Given the description of an element on the screen output the (x, y) to click on. 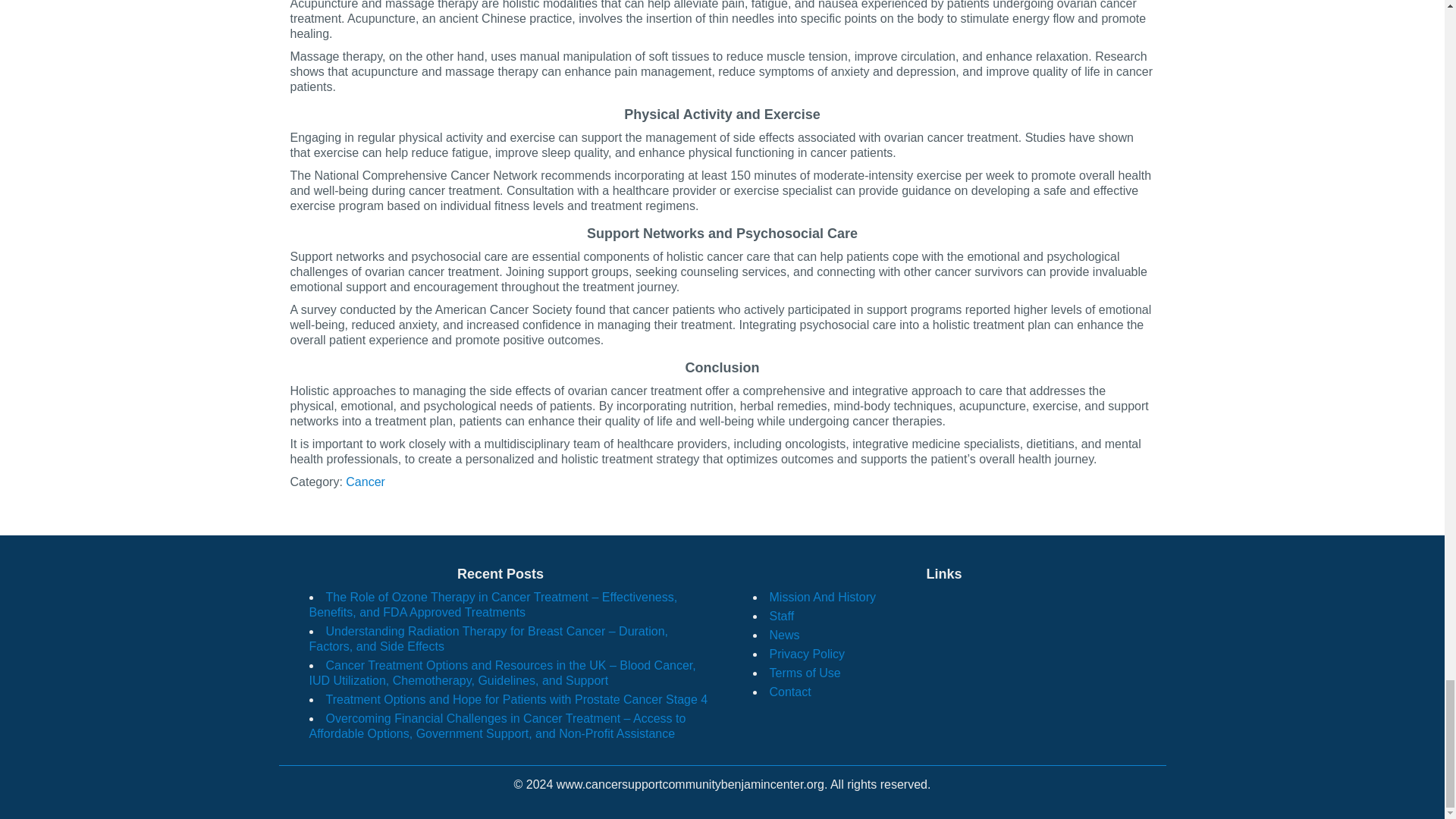
Privacy Policy (806, 653)
Mission And History (822, 596)
Cancer (365, 481)
News (783, 634)
Contact (789, 691)
Terms of Use (804, 672)
Staff (780, 615)
